Given the description of an element on the screen output the (x, y) to click on. 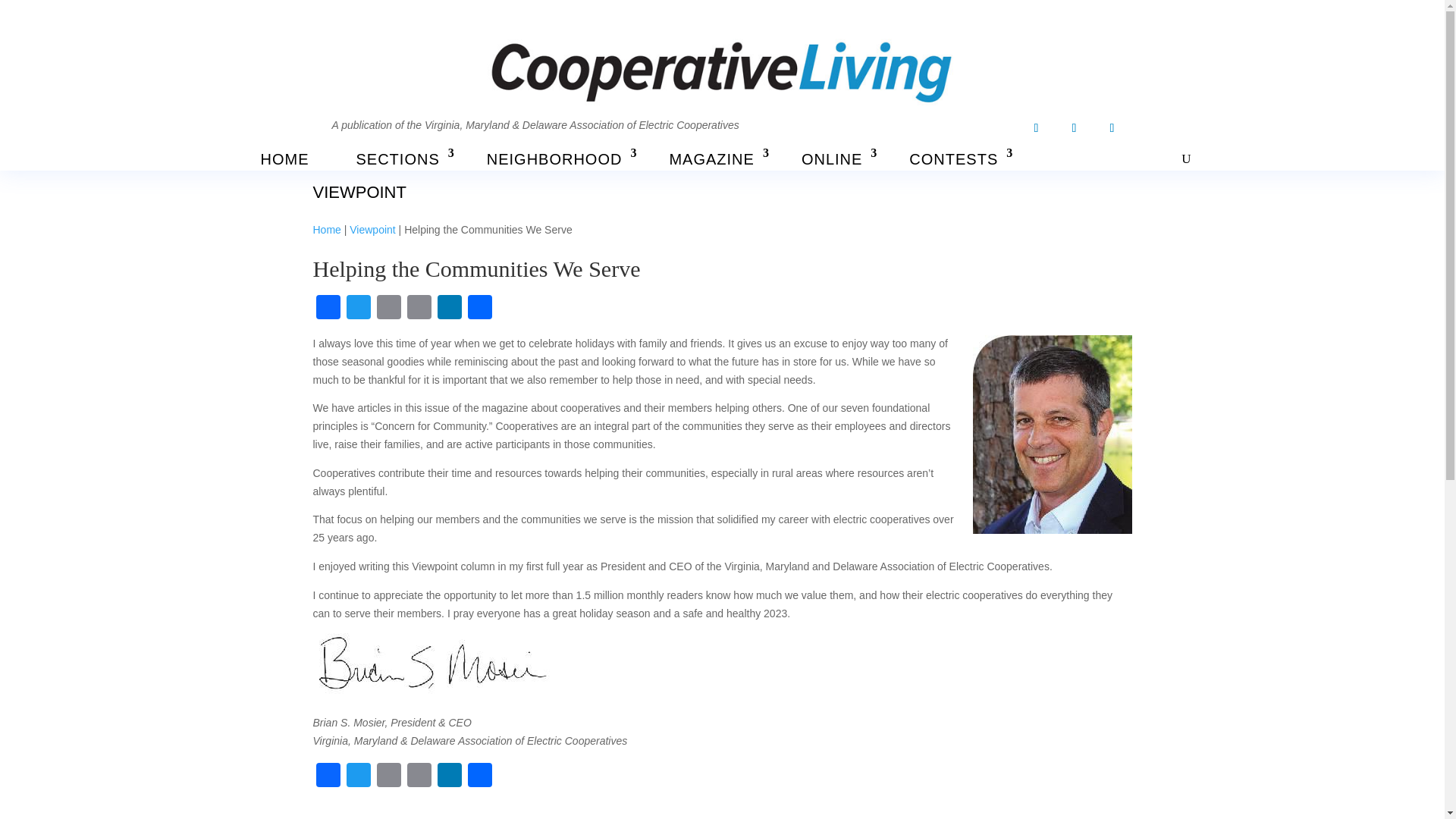
SECTIONS (397, 159)
LinkedIn (448, 308)
CONTESTS (953, 159)
Facebook (327, 776)
Email (387, 308)
MAGAZINE (710, 159)
NEIGHBORHOOD (554, 159)
Follow on Facebook (1035, 128)
HOME (283, 159)
Email (387, 776)
Follow on LinkedIn (1111, 128)
Twitter (357, 308)
ONLINE (831, 159)
LinkedIn (448, 776)
Print (418, 308)
